Given the description of an element on the screen output the (x, y) to click on. 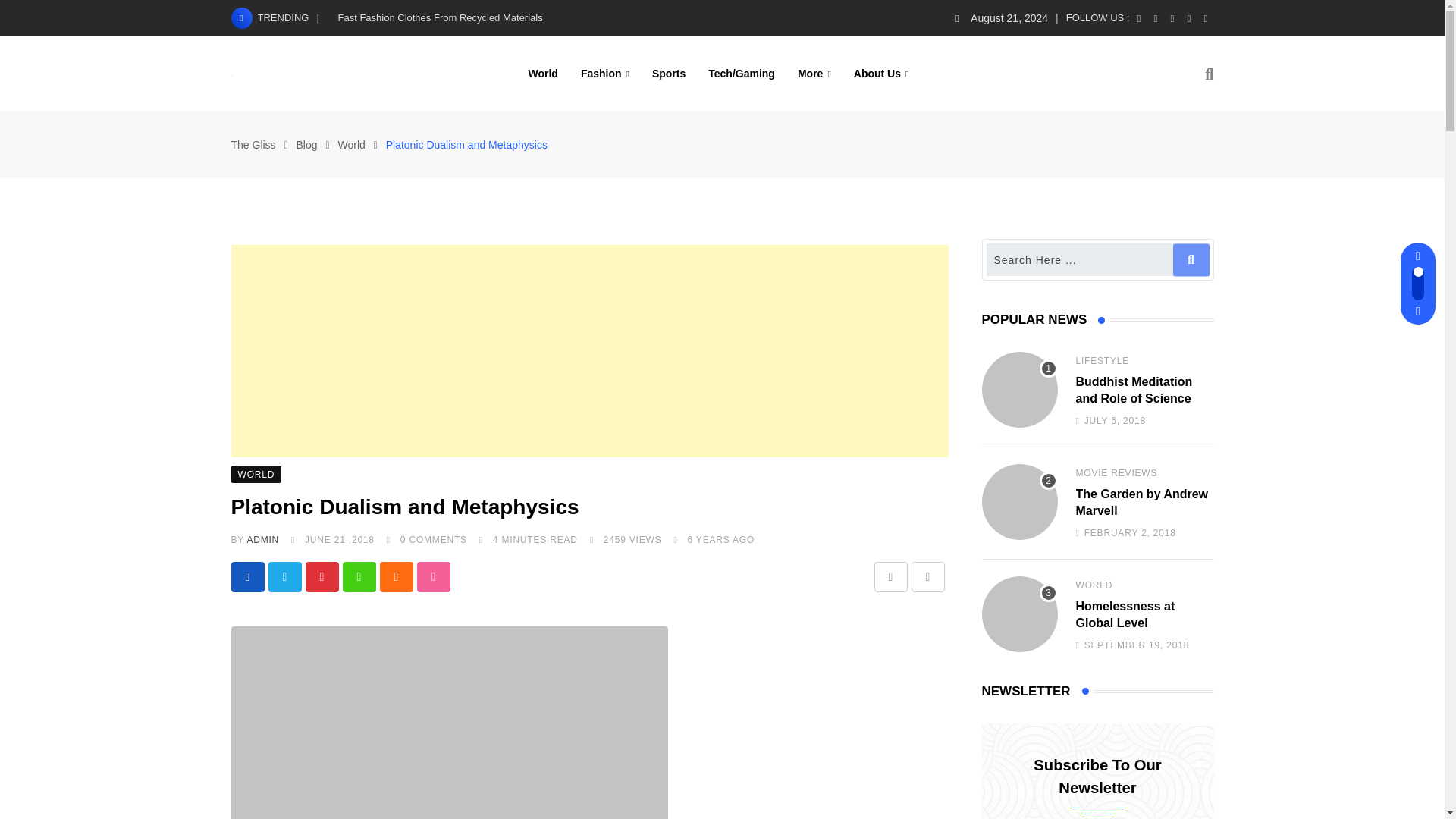
Go to the World Category archives. (351, 144)
Go to The Gliss. (252, 144)
About Us (881, 73)
Fast Fashion Clothes From Recycled Materials (440, 17)
Go to Blog. (307, 144)
Fashion (604, 73)
Posts by admin (262, 539)
